Given the description of an element on the screen output the (x, y) to click on. 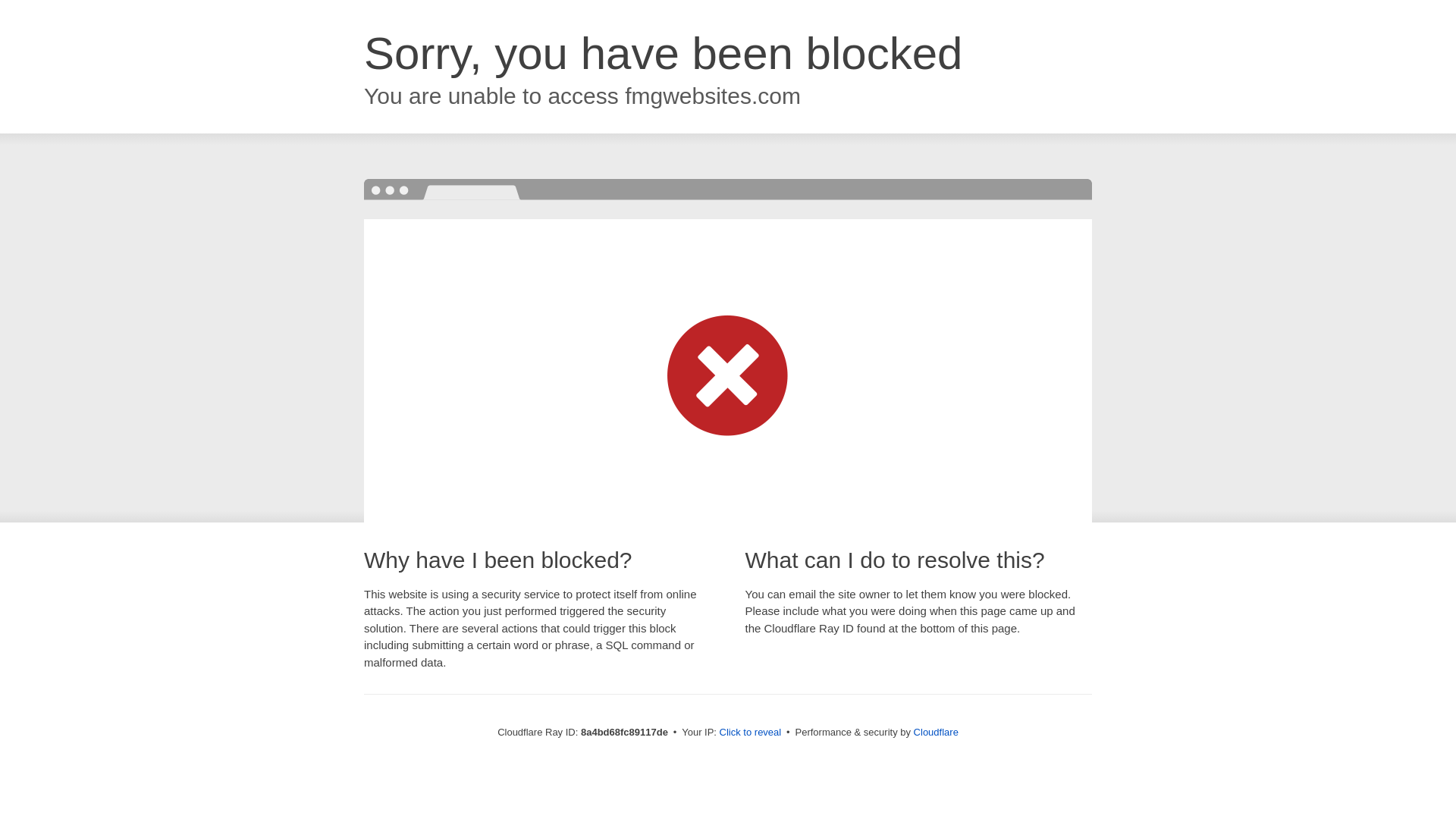
Cloudflare (936, 731)
Click to reveal (750, 732)
